Given the description of an element on the screen output the (x, y) to click on. 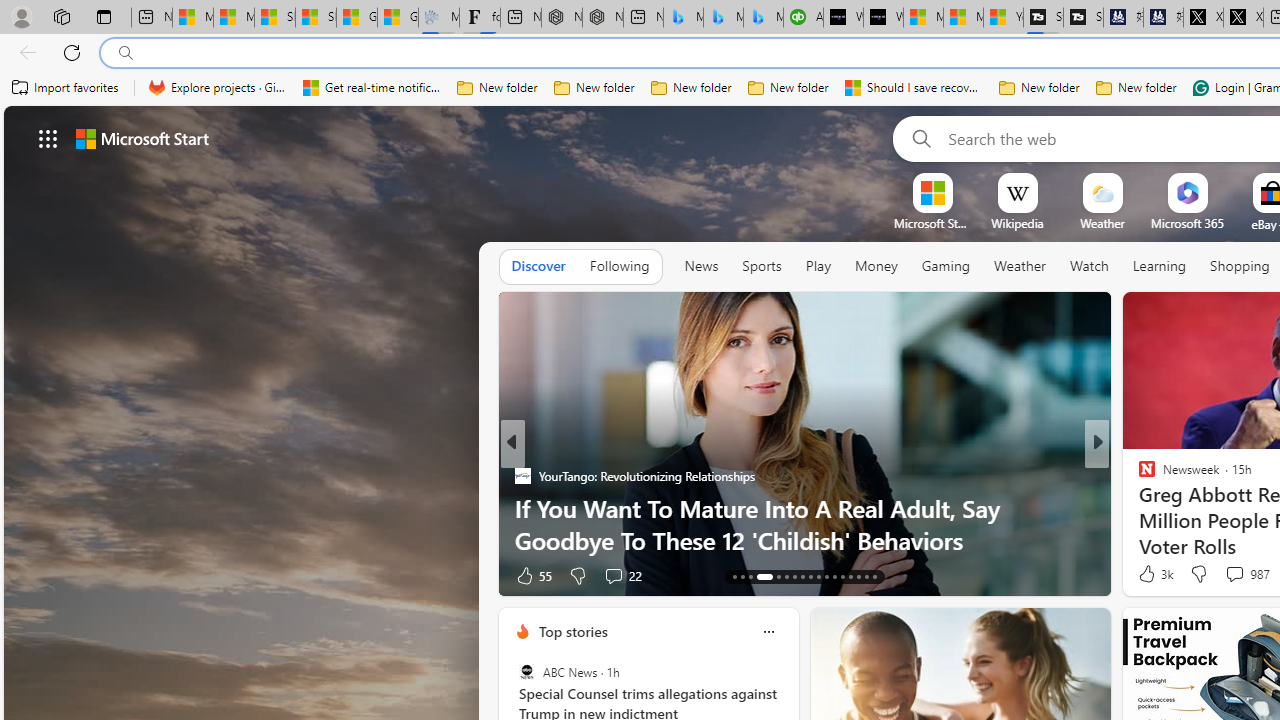
Learning (1159, 265)
Import favorites (65, 88)
View comments 18 Comment (1234, 575)
Microsoft 365 (1186, 223)
AutomationID: tab-29 (874, 576)
AutomationID: tab-20 (801, 576)
AutomationID: tab-28 (865, 576)
View comments 52 Comment (1237, 574)
AutomationID: waffle (47, 138)
